Given the description of an element on the screen output the (x, y) to click on. 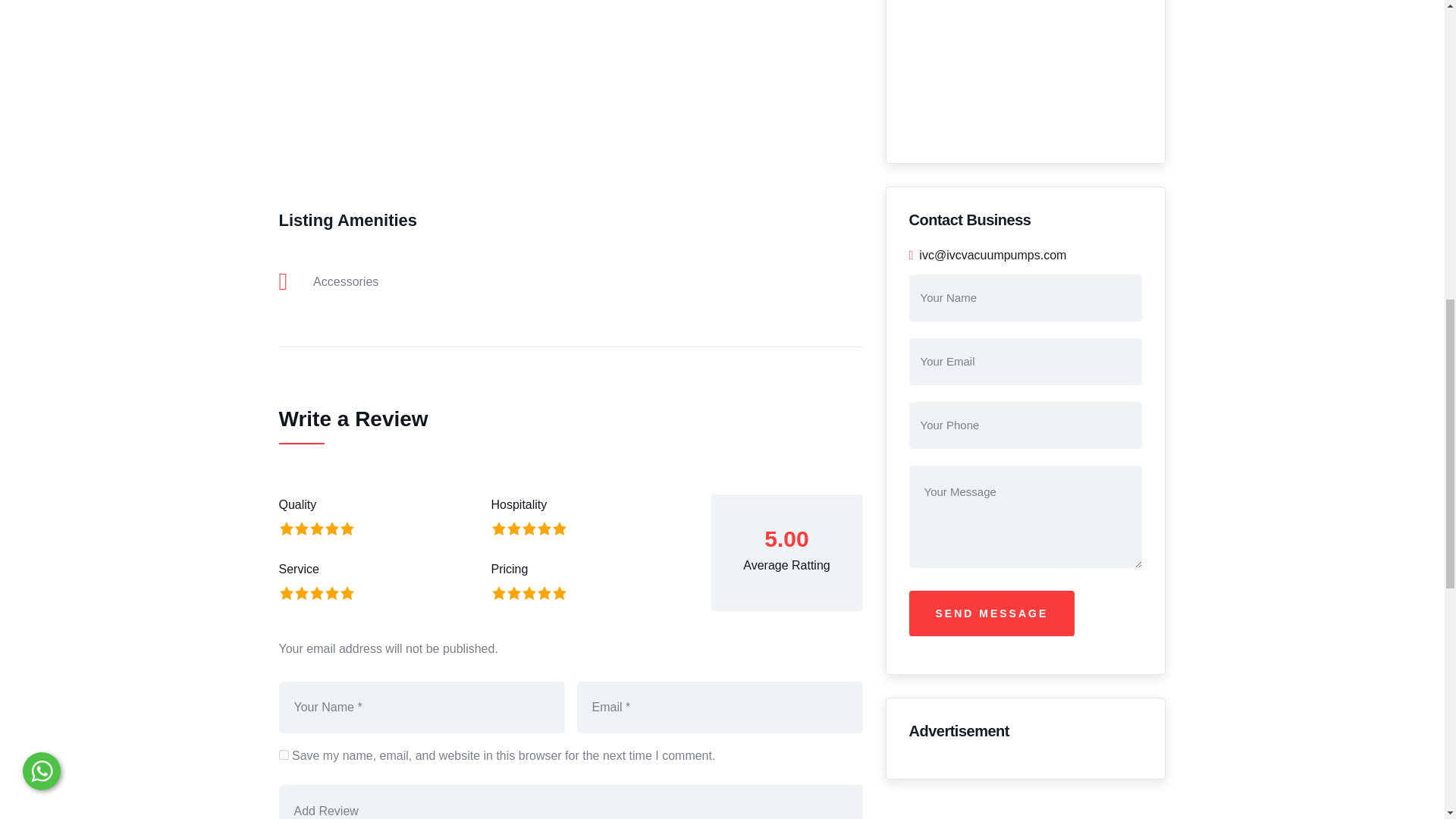
yes (283, 755)
Send message (991, 613)
Advertisement (1024, 70)
Advertisement (571, 99)
